Given the description of an element on the screen output the (x, y) to click on. 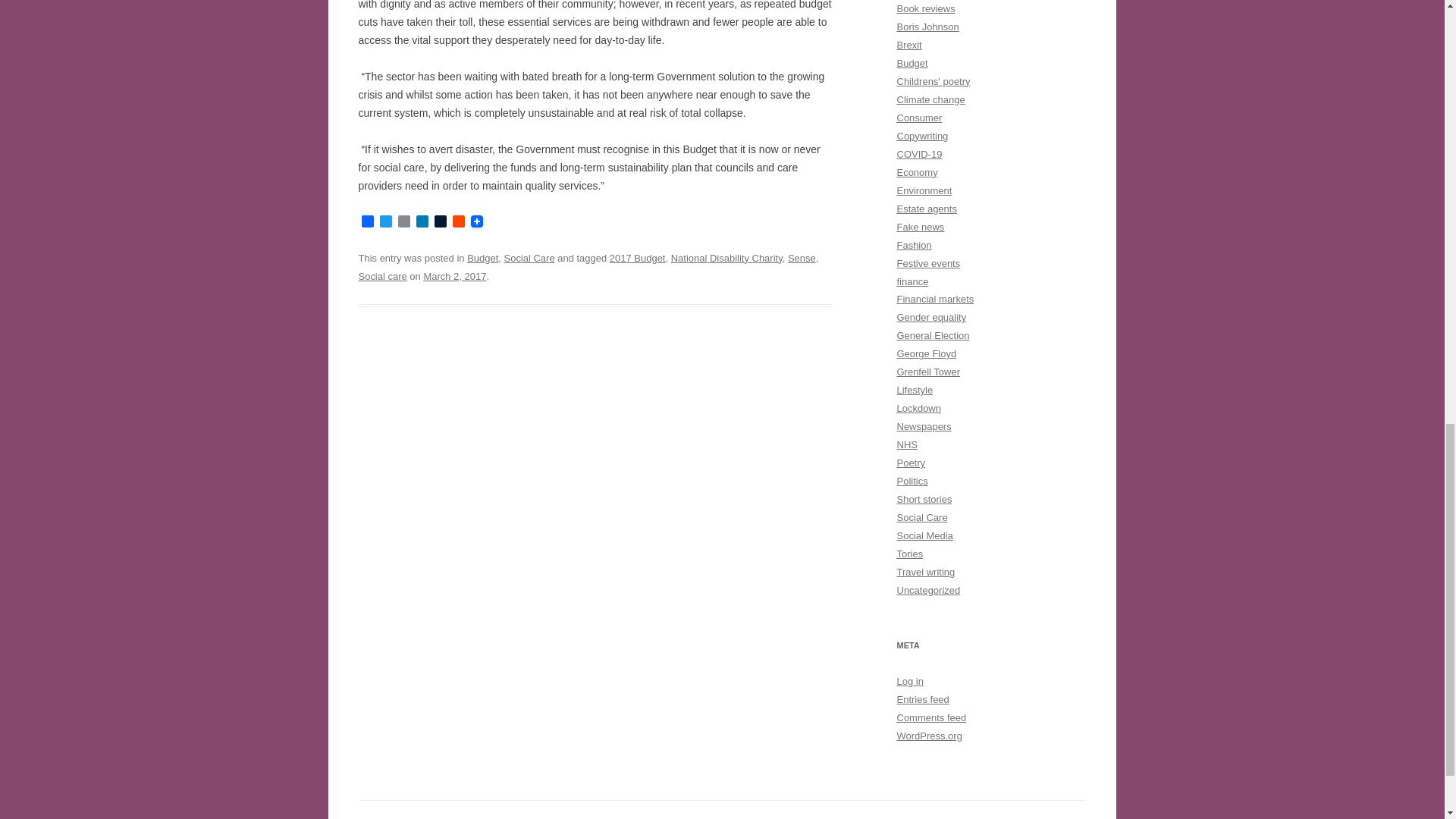
Sense (801, 257)
Budget (482, 257)
National Disability Charity (727, 257)
Social care (382, 276)
Reddit (457, 222)
Social Care (528, 257)
2017 Budget (637, 257)
Reddit (457, 222)
Facebook (366, 222)
Twitter (384, 222)
